Given the description of an element on the screen output the (x, y) to click on. 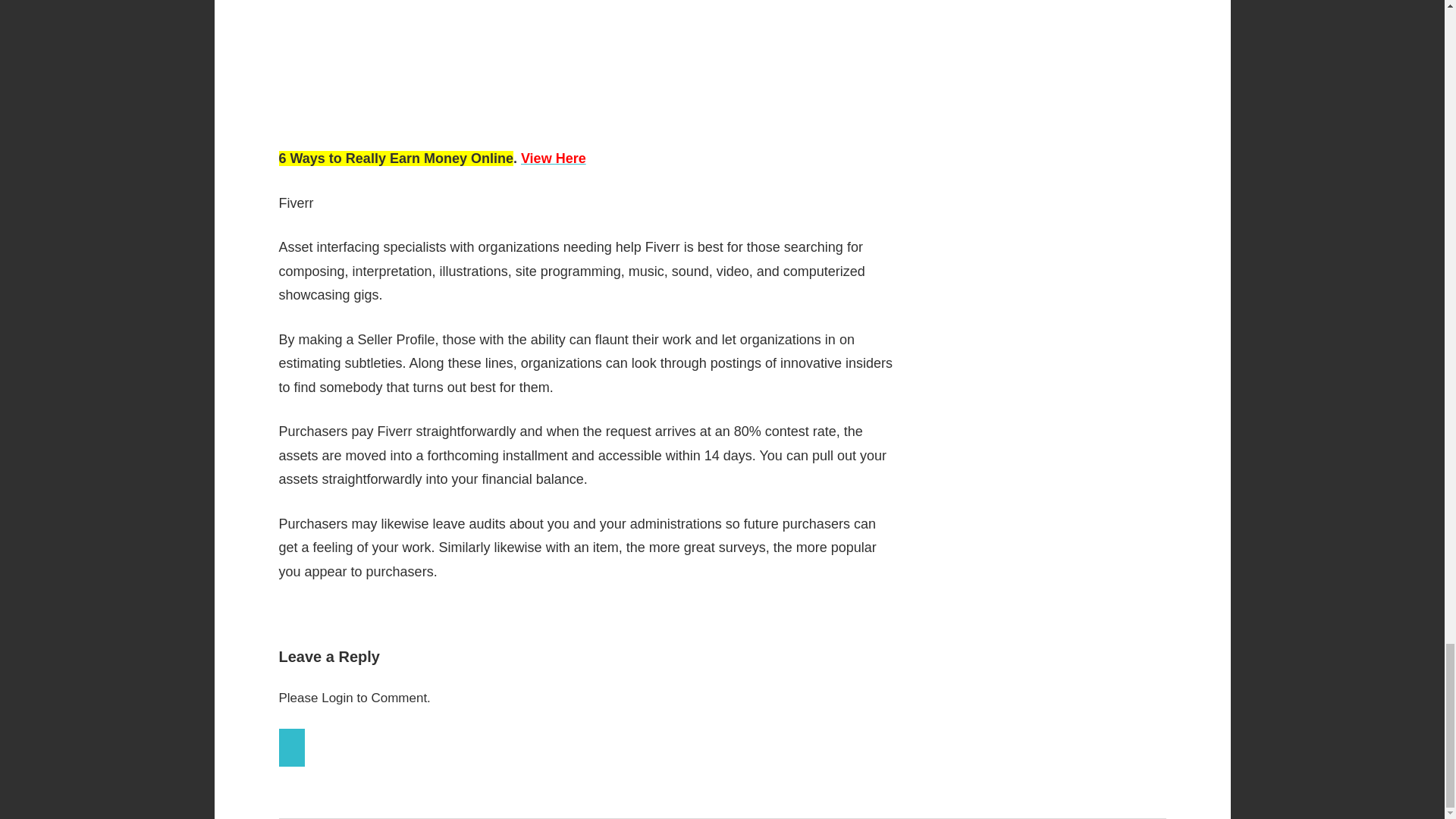
View Here (553, 158)
